Given the description of an element on the screen output the (x, y) to click on. 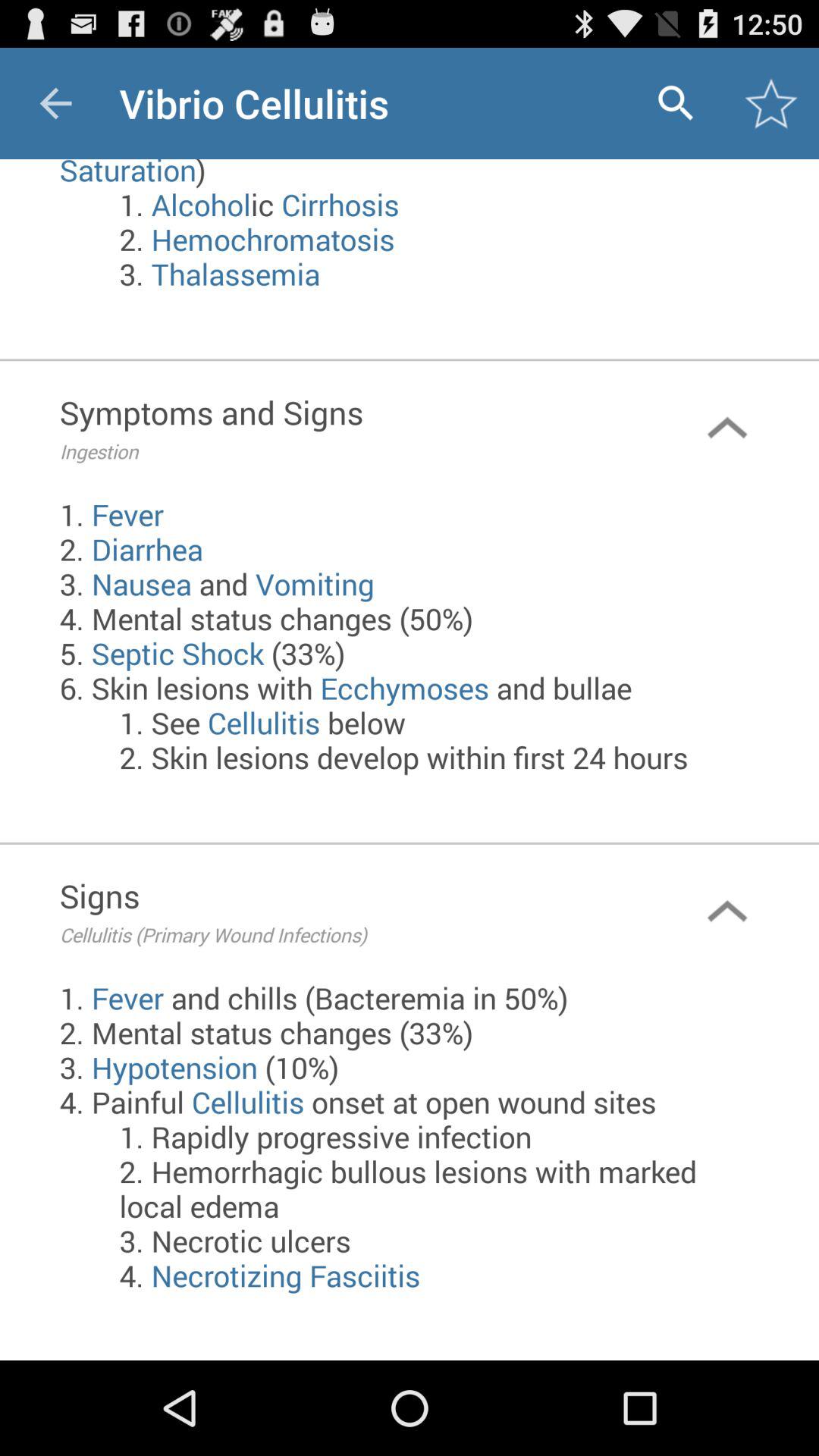
turn off the icon above the 1 immunocompromising conditions item (771, 103)
